Given the description of an element on the screen output the (x, y) to click on. 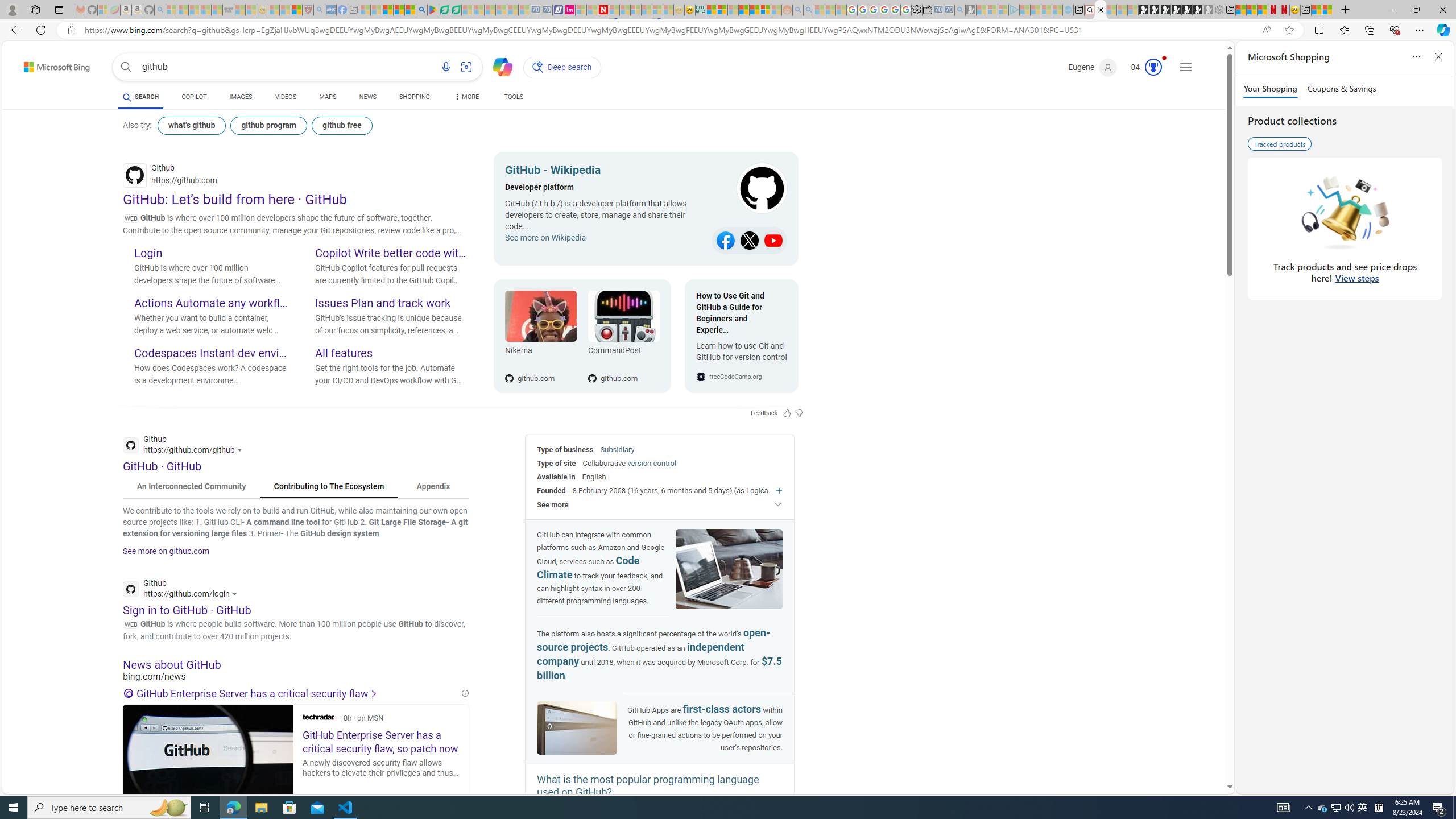
Appendix (432, 486)
AutomationID: serp_medal_svg (1152, 67)
Class: b_wdblk (750, 188)
Feedback Dislike (798, 412)
Search button (126, 66)
Global Web Icon (700, 376)
